Given the description of an element on the screen output the (x, y) to click on. 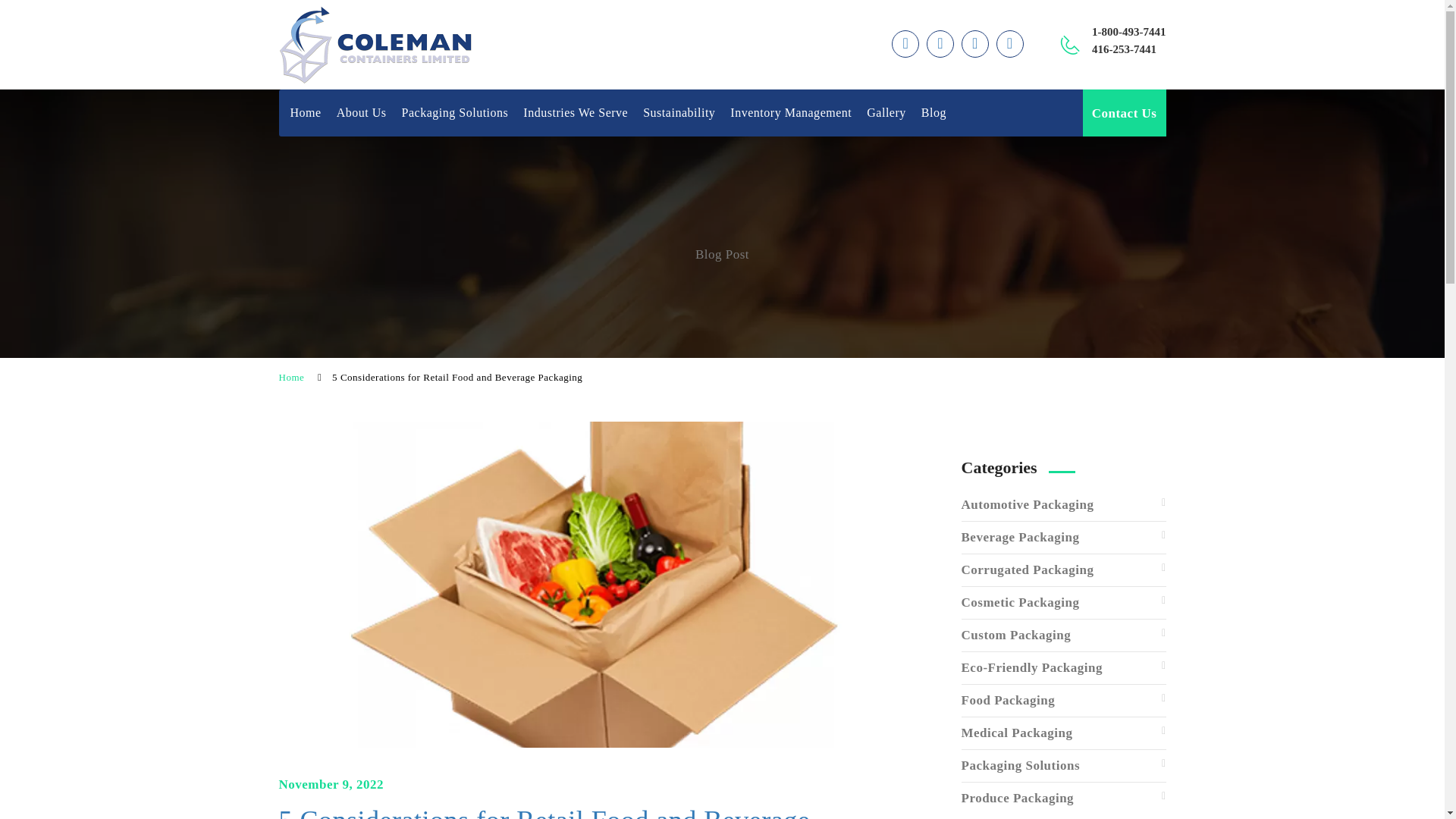
Home (304, 112)
Packaging Solutions (454, 112)
416-253-7441 (1124, 49)
Automotive Packaging (1063, 504)
Custom Packaging (1063, 635)
Inventory Management (790, 112)
About Us (361, 112)
5 Considerations for Retail Food and Beverage Packaging (597, 812)
Eco-Friendly Packaging (1063, 667)
1-800-493-7441 (1129, 31)
